Given the description of an element on the screen output the (x, y) to click on. 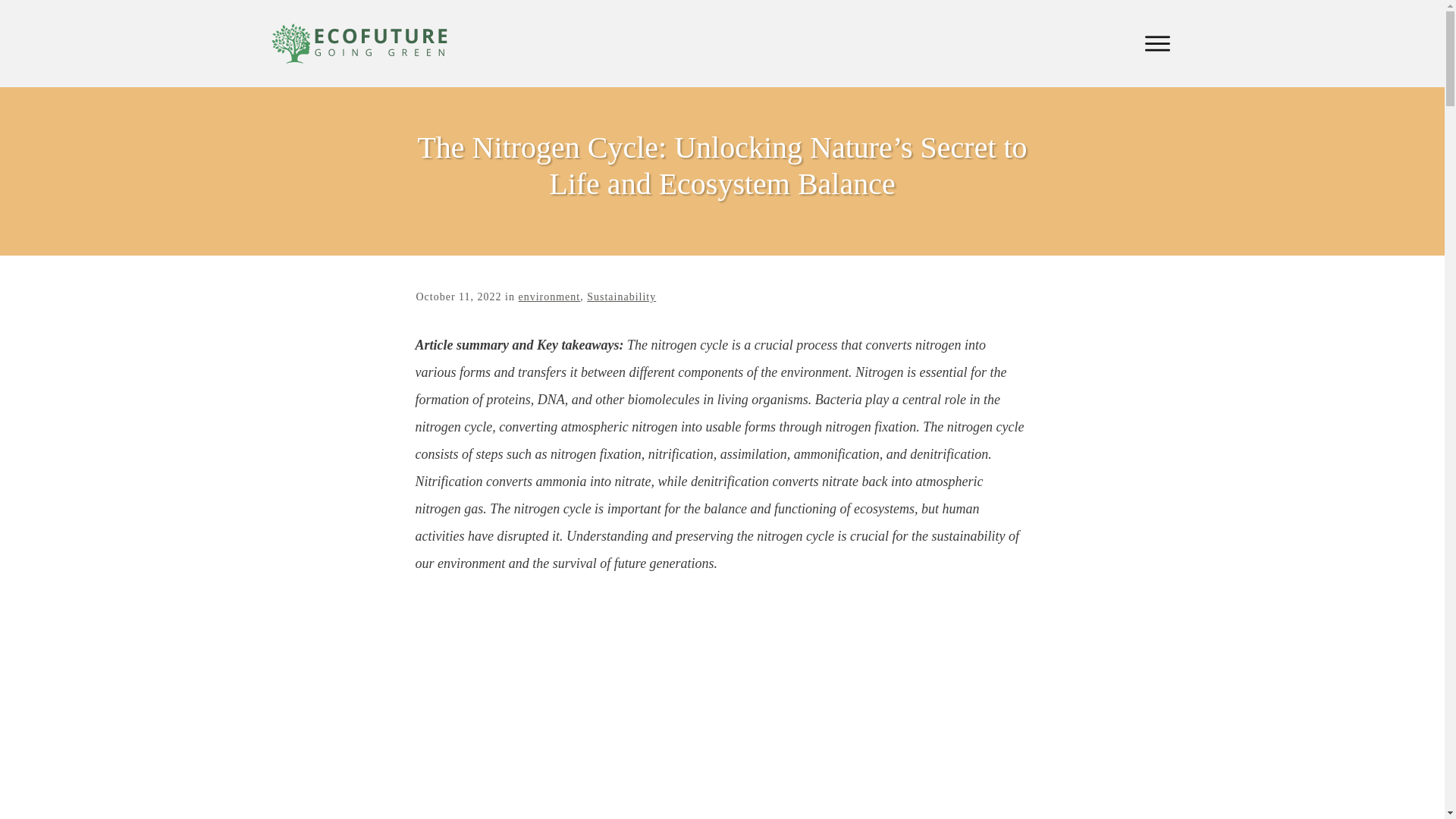
Sustainability (621, 296)
environment (548, 296)
Sustainability (621, 296)
environment (548, 296)
